Given the description of an element on the screen output the (x, y) to click on. 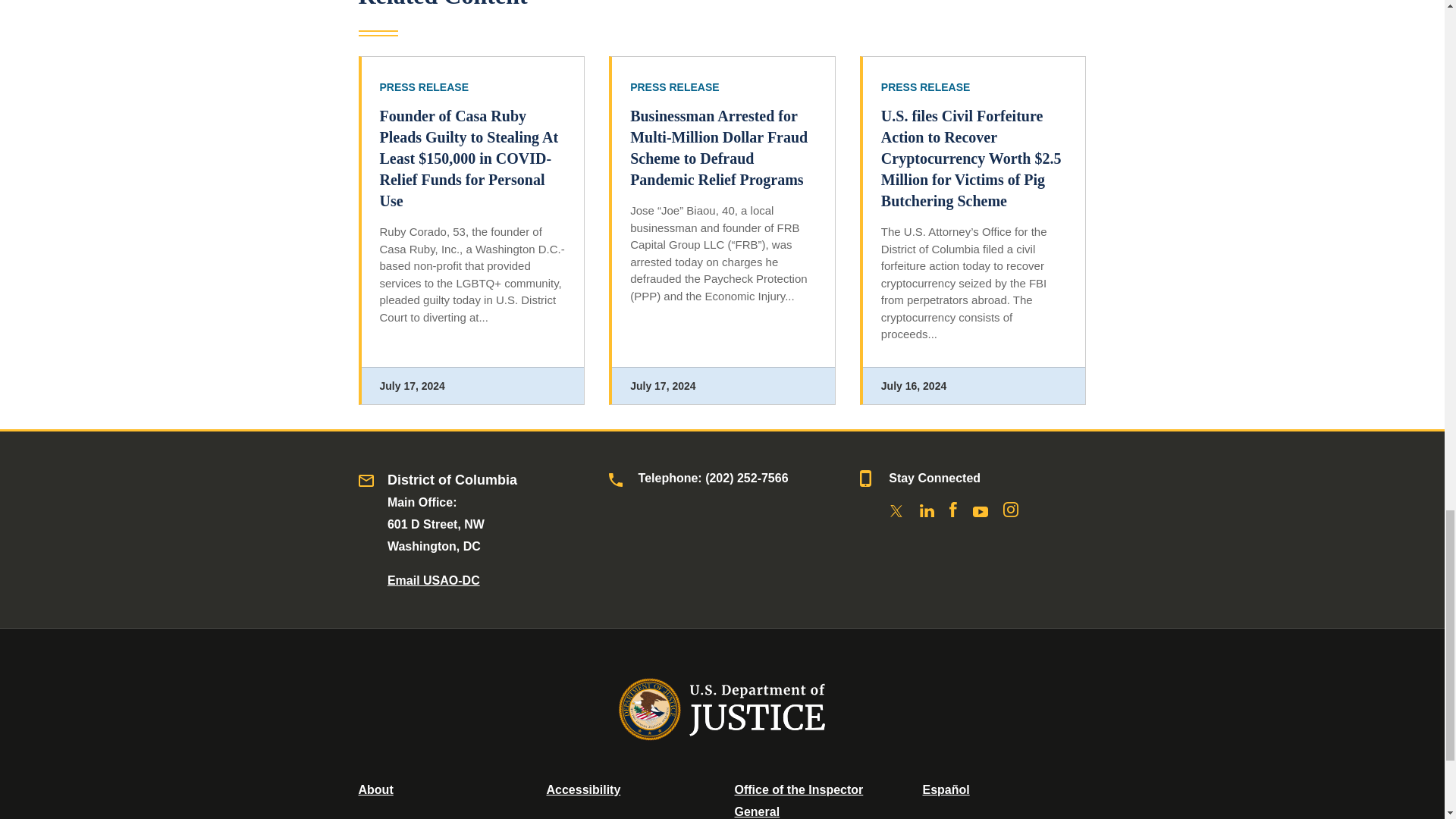
About DOJ (375, 789)
Accessibility Statement (583, 789)
